Given the description of an element on the screen output the (x, y) to click on. 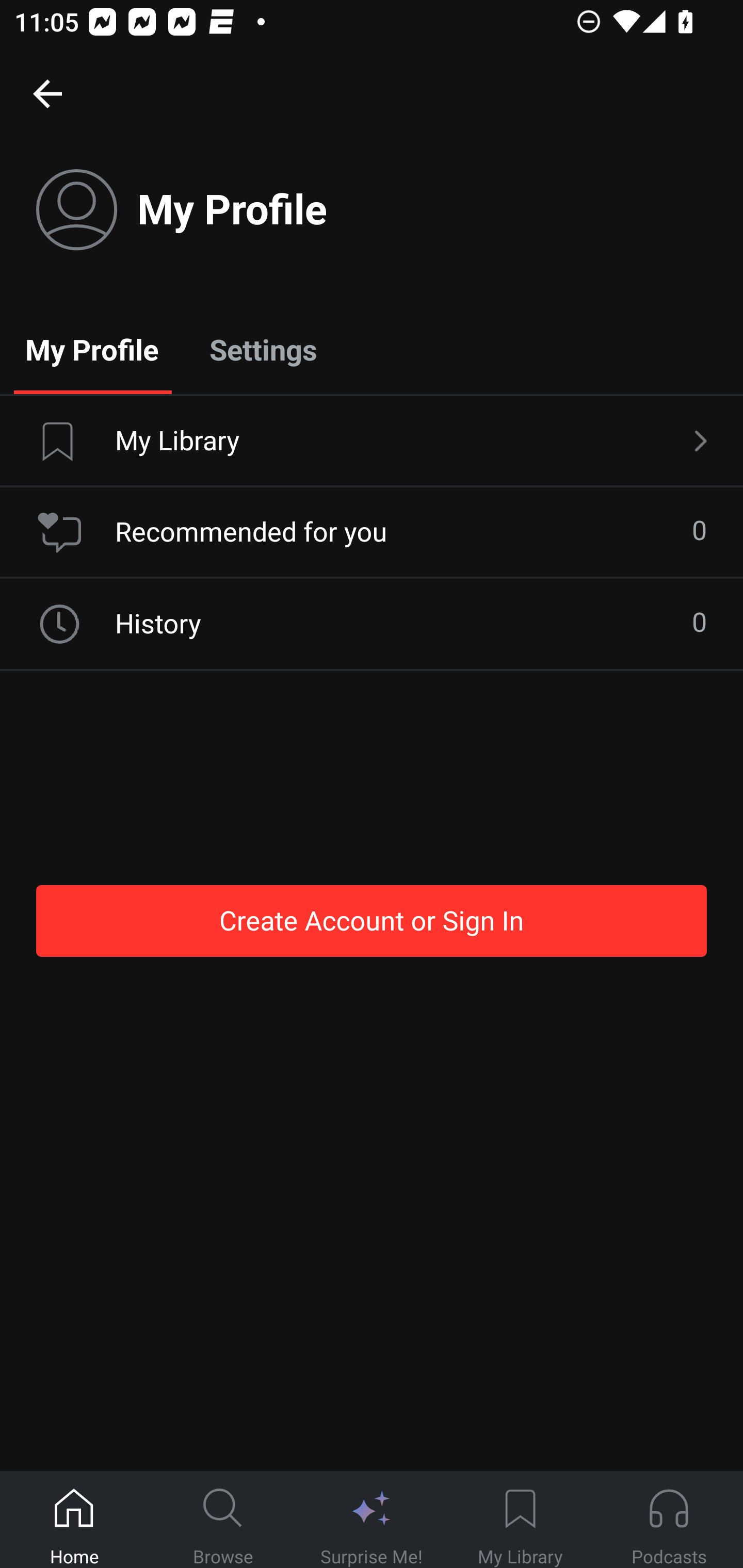
Home, back (47, 92)
My Profile (92, 348)
Settings (263, 348)
My Library (371, 441)
Recommended for you 0 (371, 532)
History 0 (371, 623)
Create Account or Sign In (371, 920)
Home (74, 1520)
Browse (222, 1520)
Surprise Me! (371, 1520)
My Library (519, 1520)
Podcasts (668, 1520)
